Given the description of an element on the screen output the (x, y) to click on. 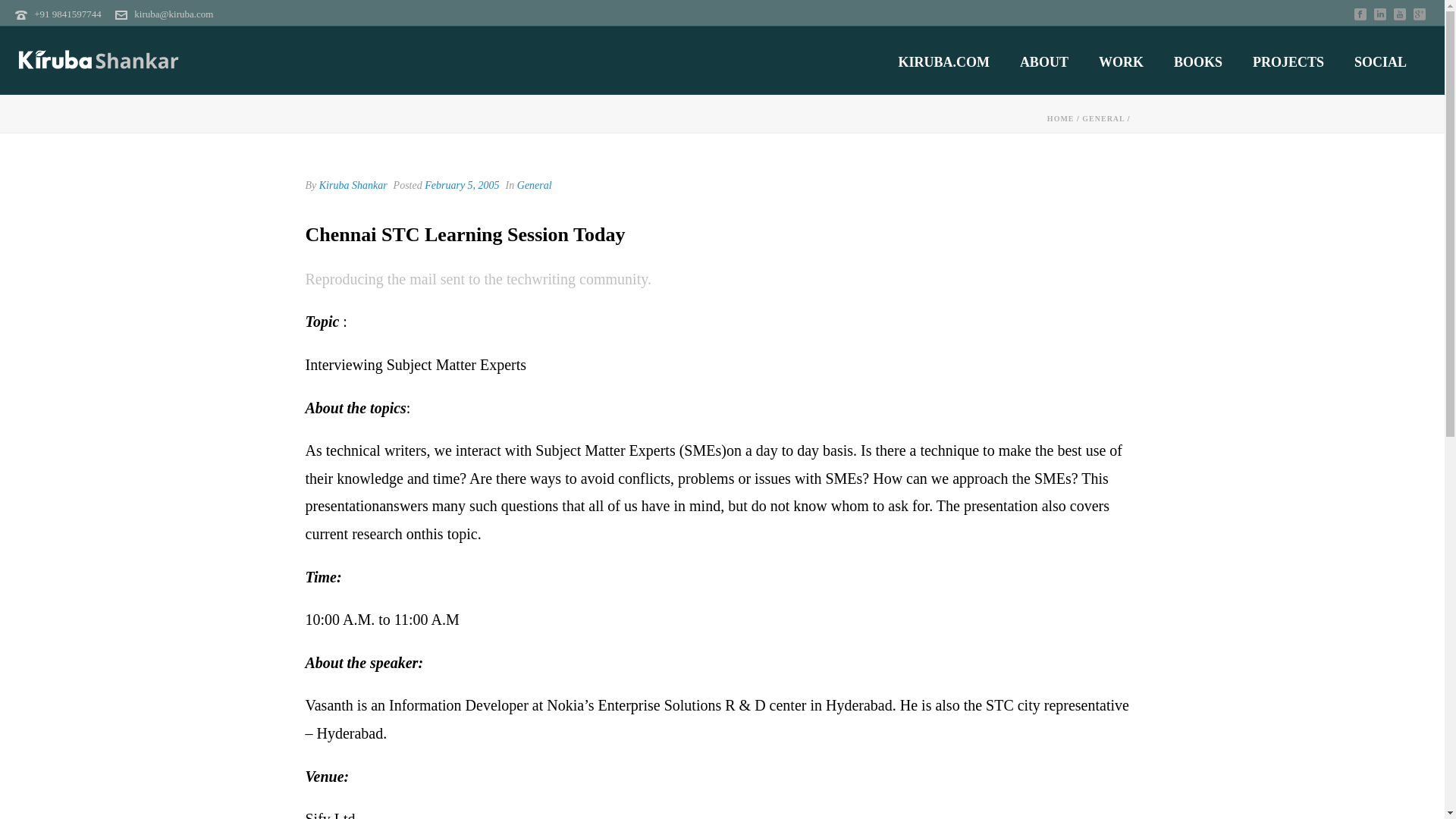
ABOUT (1043, 62)
ABOUT (1043, 62)
BOOKS (1197, 62)
BOOKS (1197, 62)
Posts by Kiruba Shankar (352, 184)
PROJECTS (1288, 62)
KIRUBA.COM (943, 62)
WORK (1120, 62)
SOCIAL (1380, 62)
WORK (1120, 62)
The Personal Website of Kiruba Shankar (98, 60)
KIRUBA.COM (943, 62)
PROJECTS (1288, 62)
